Given the description of an element on the screen output the (x, y) to click on. 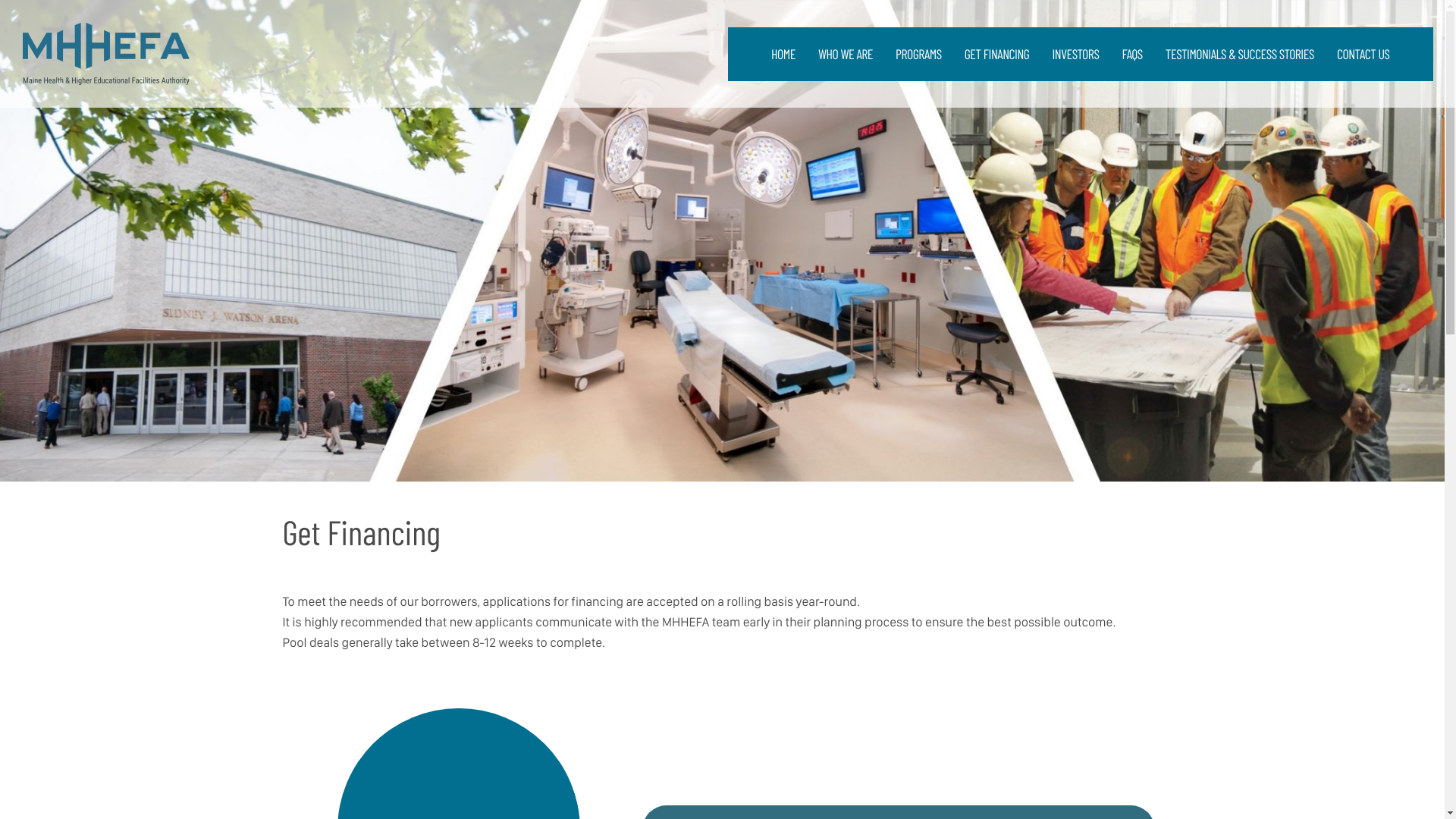
PROGRAMS (918, 53)
GET FINANCING (997, 53)
INVESTORS (1075, 53)
CONTACT US (1362, 53)
FAQS (1131, 53)
WHO WE ARE (844, 53)
HOME (783, 53)
